Given the description of an element on the screen output the (x, y) to click on. 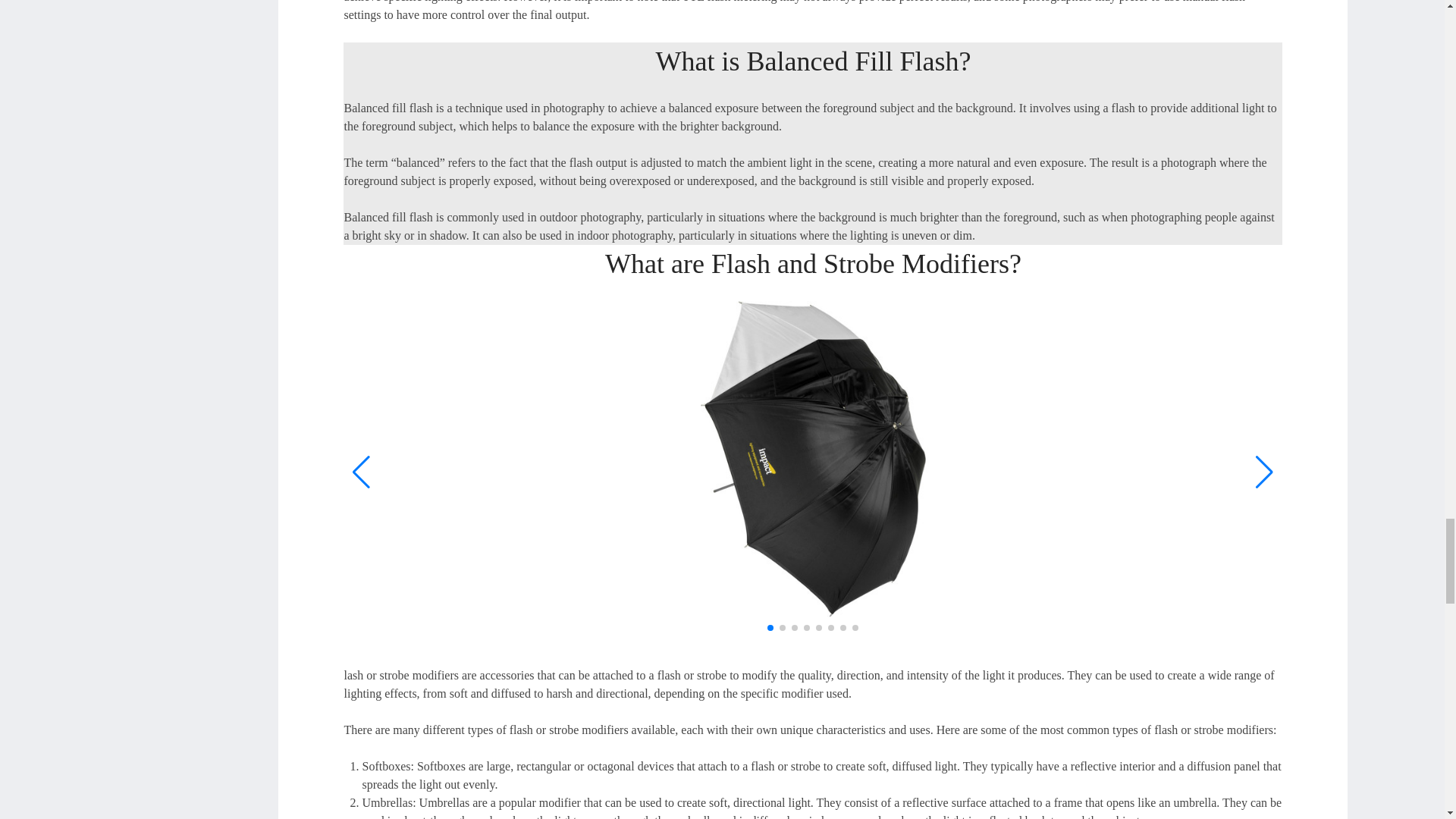
The Ultimate Guide to Flash Photography and Strobes 4 (813, 459)
